Given the description of an element on the screen output the (x, y) to click on. 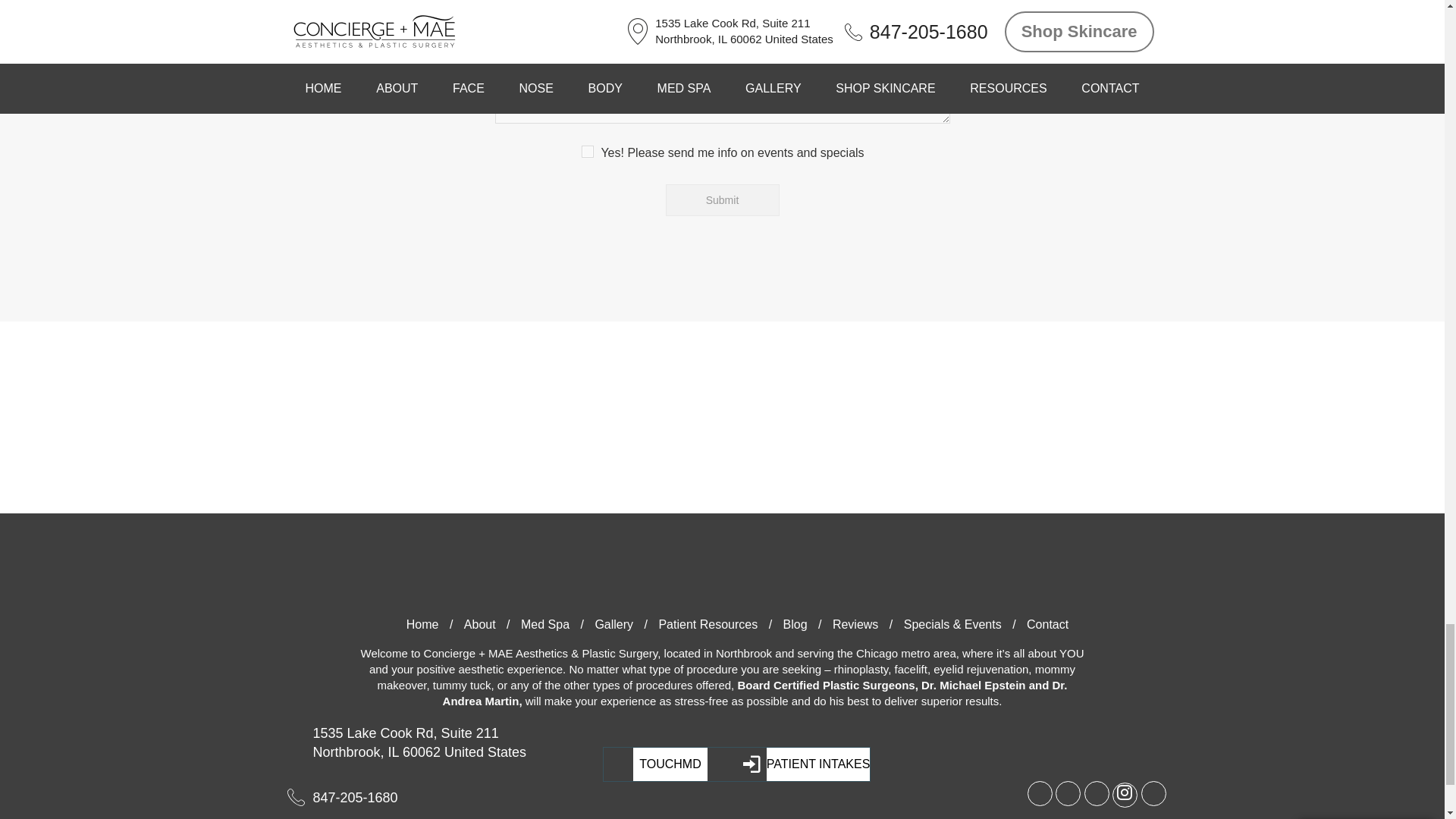
Yes! Please send me info on events and specials (587, 151)
